Given the description of an element on the screen output the (x, y) to click on. 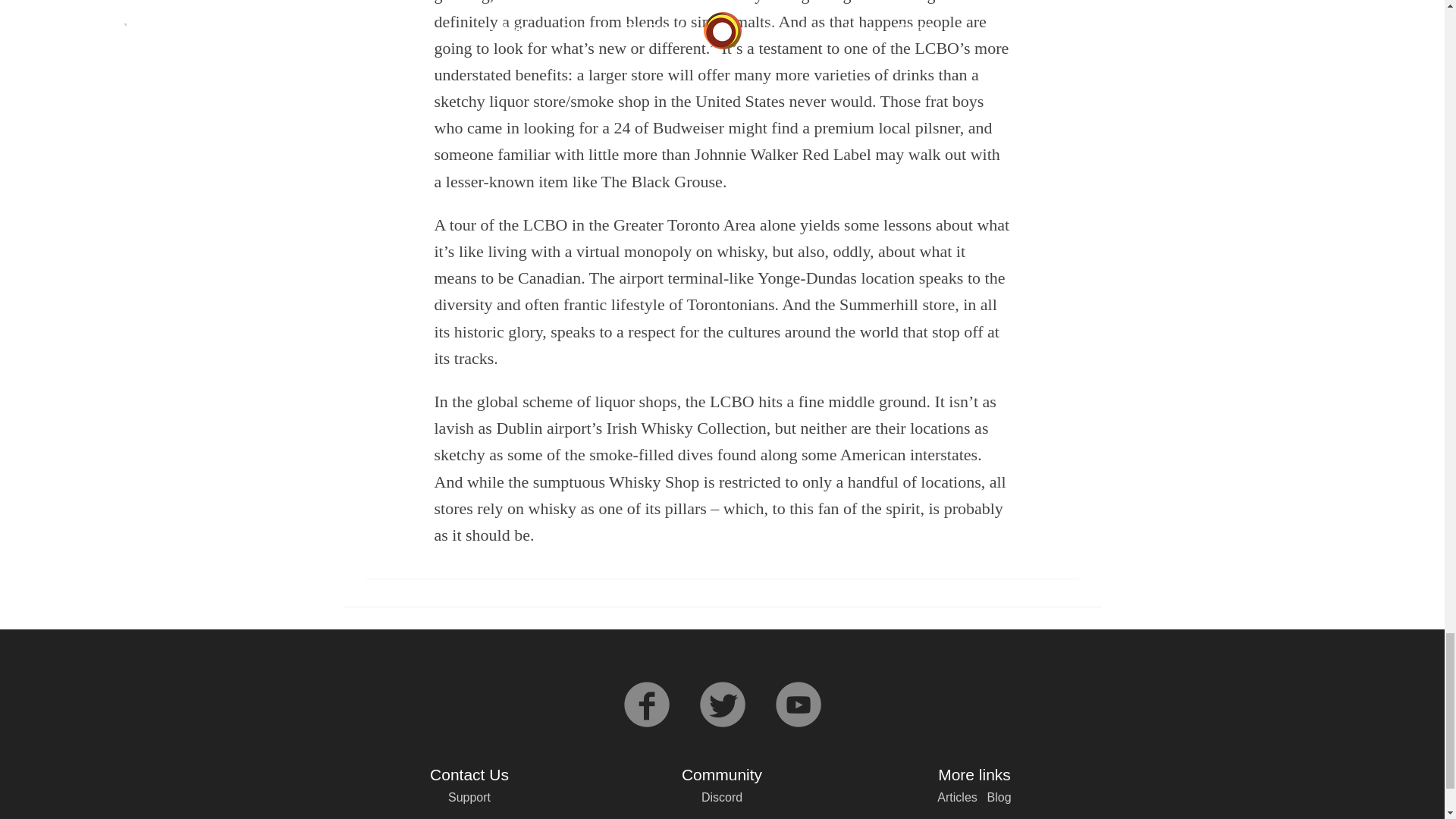
Articles (956, 797)
Blog (999, 797)
Discord (721, 797)
